Given the description of an element on the screen output the (x, y) to click on. 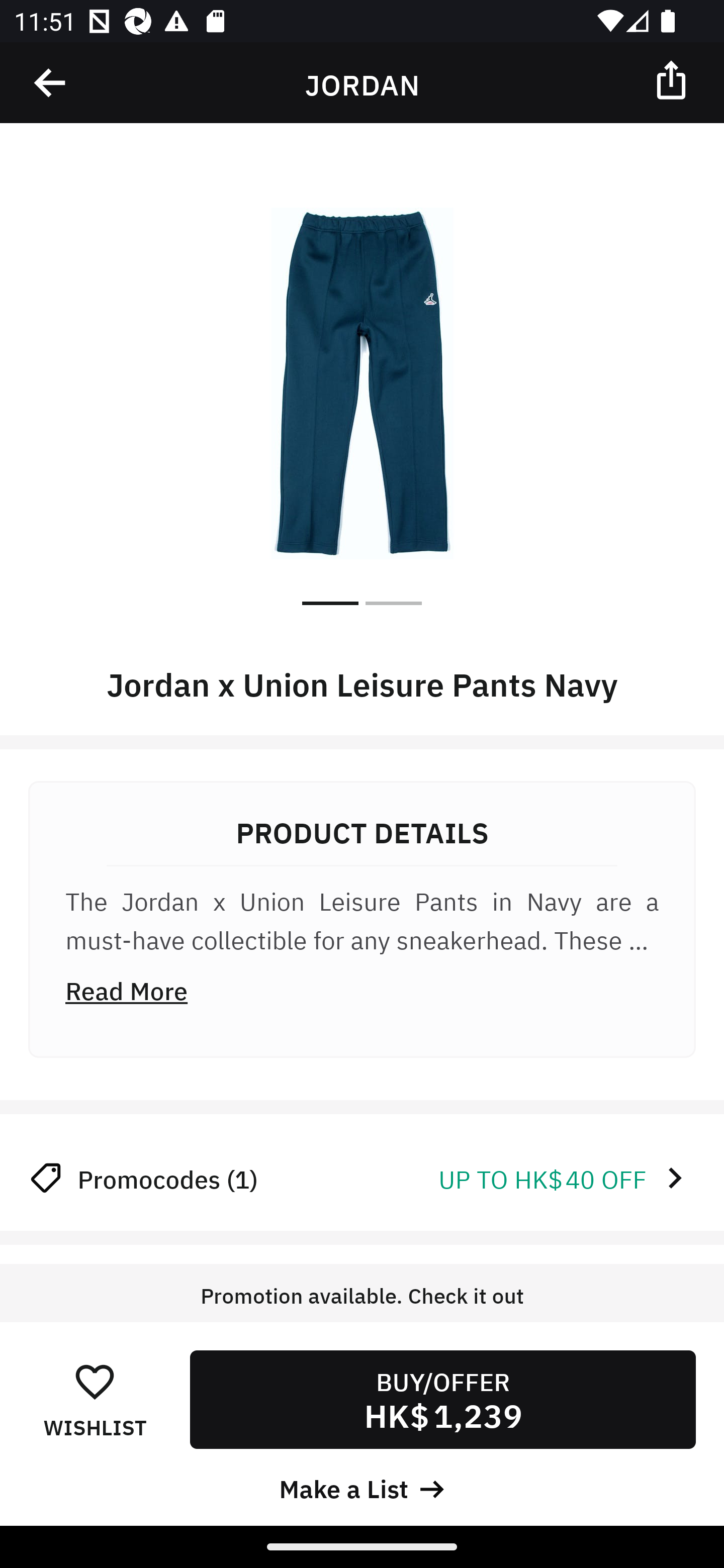
 (50, 83)
 (672, 79)
Promocodes (1) UP TO HK$ 40 OFF  (361, 1178)
BUY/OFFER HK$ 1,239 (442, 1399)
󰋕 (94, 1380)
Make a List (361, 1486)
